Given the description of an element on the screen output the (x, y) to click on. 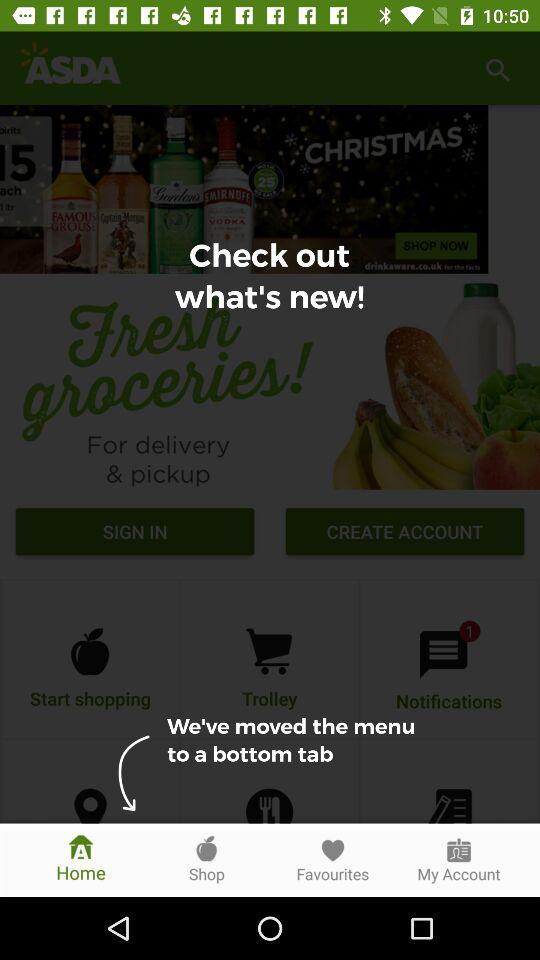
click the create account icon (404, 534)
